Given the description of an element on the screen output the (x, y) to click on. 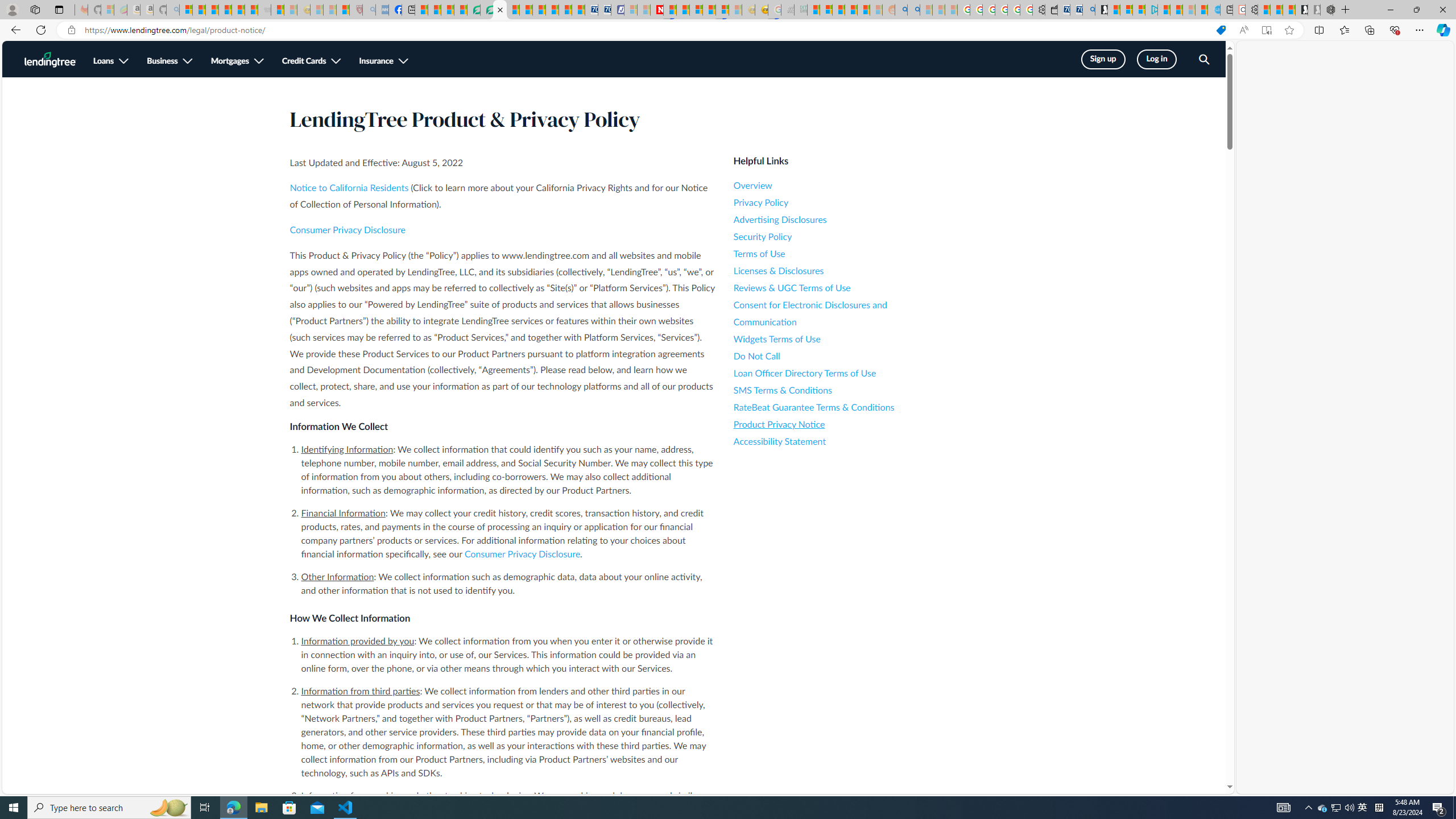
Local - MSN (342, 9)
Reviews & UGC Terms of Use (836, 287)
Overview (836, 185)
Terms of Use Agreement (486, 9)
Terms of Use (836, 253)
Search LendingTree (1203, 60)
